Given the description of an element on the screen output the (x, y) to click on. 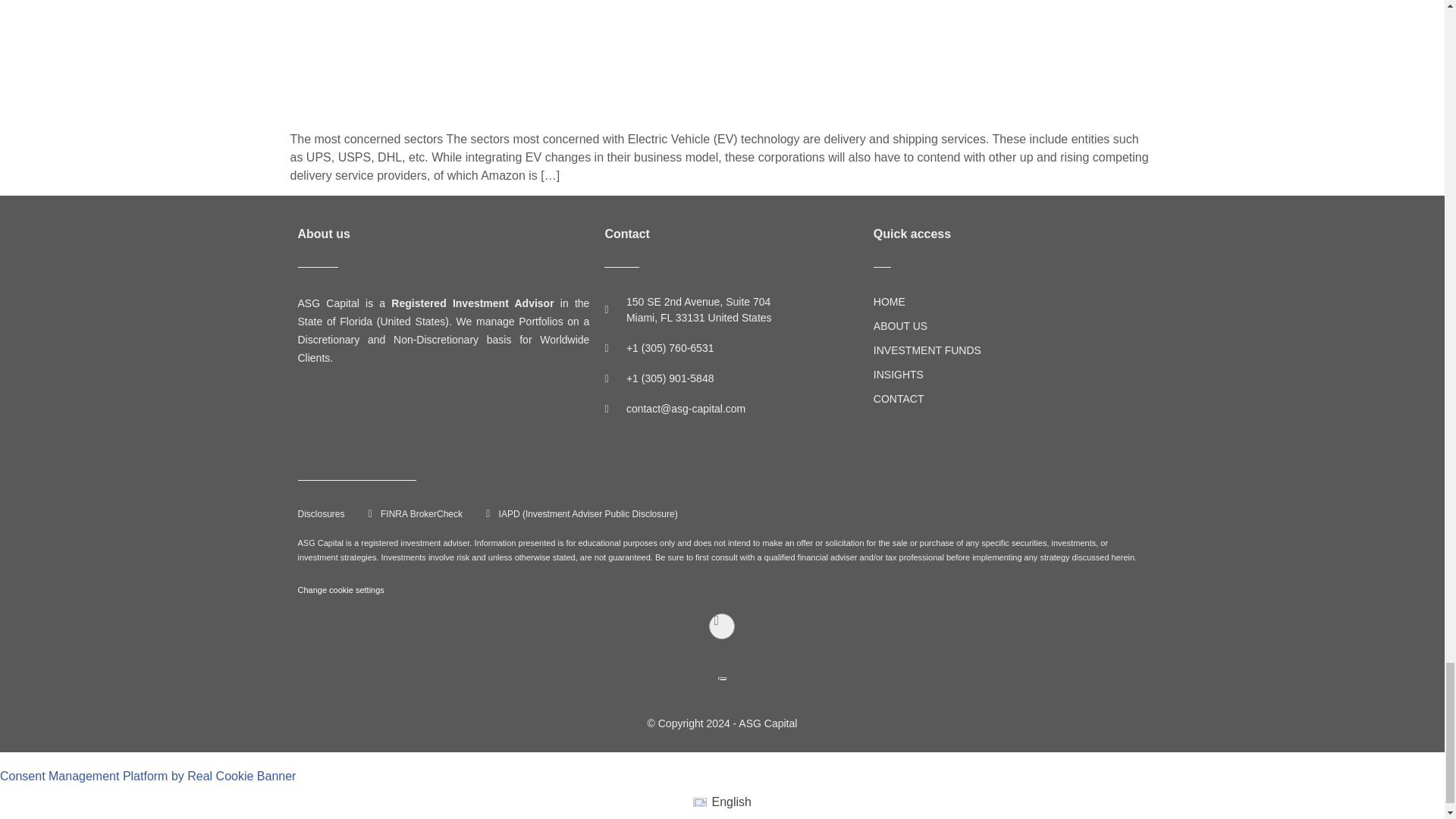
INVESTMENT FUNDS (936, 350)
ABOUT US (936, 326)
HOME (936, 302)
